Given the description of an element on the screen output the (x, y) to click on. 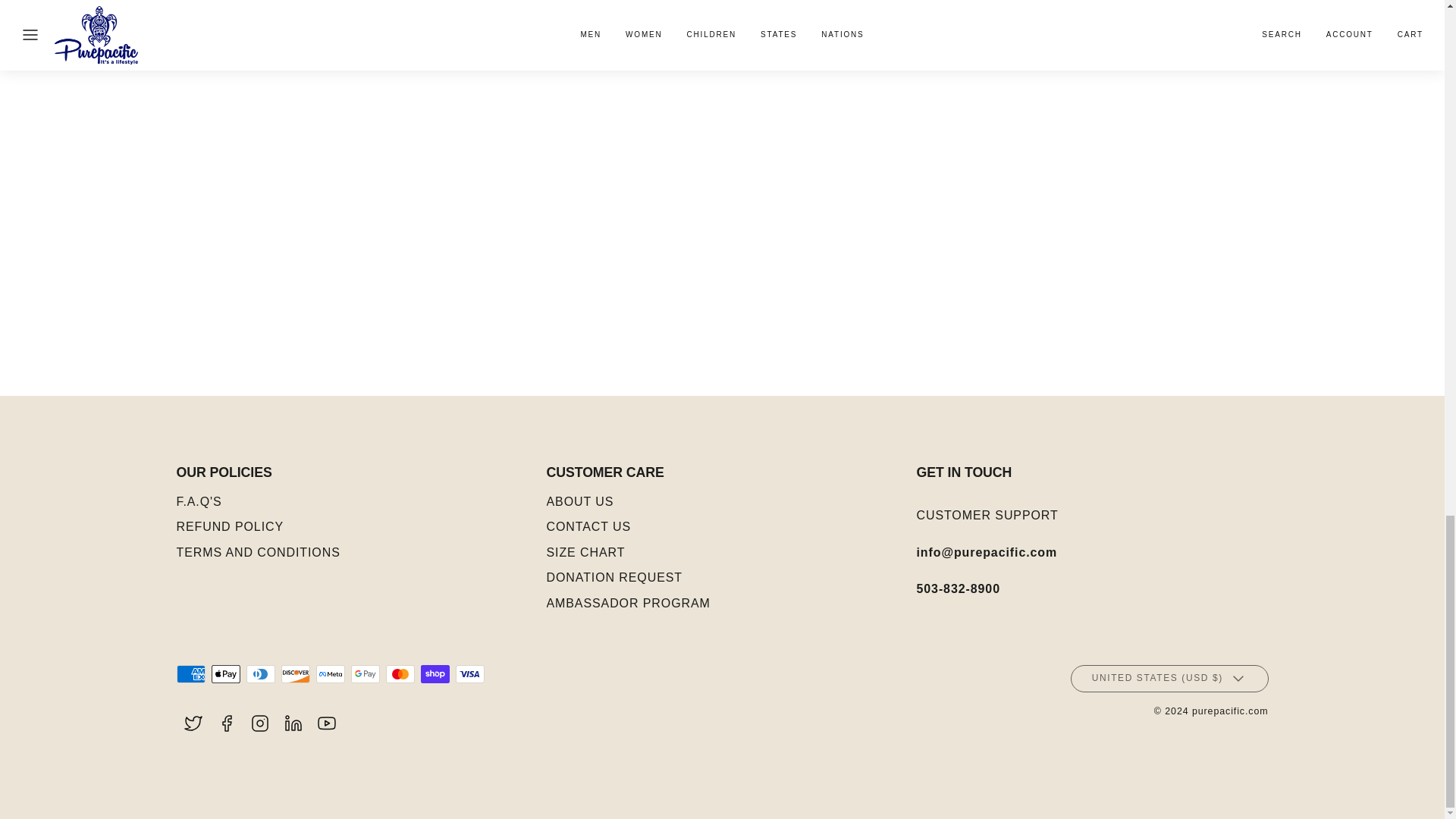
Diners Club (260, 674)
Meta Pay (329, 674)
Visa (468, 674)
Apple Pay (225, 674)
Shop Pay (434, 674)
American Express (190, 674)
Discover (294, 674)
Mastercard (399, 674)
Google Pay (364, 674)
